Given the description of an element on the screen output the (x, y) to click on. 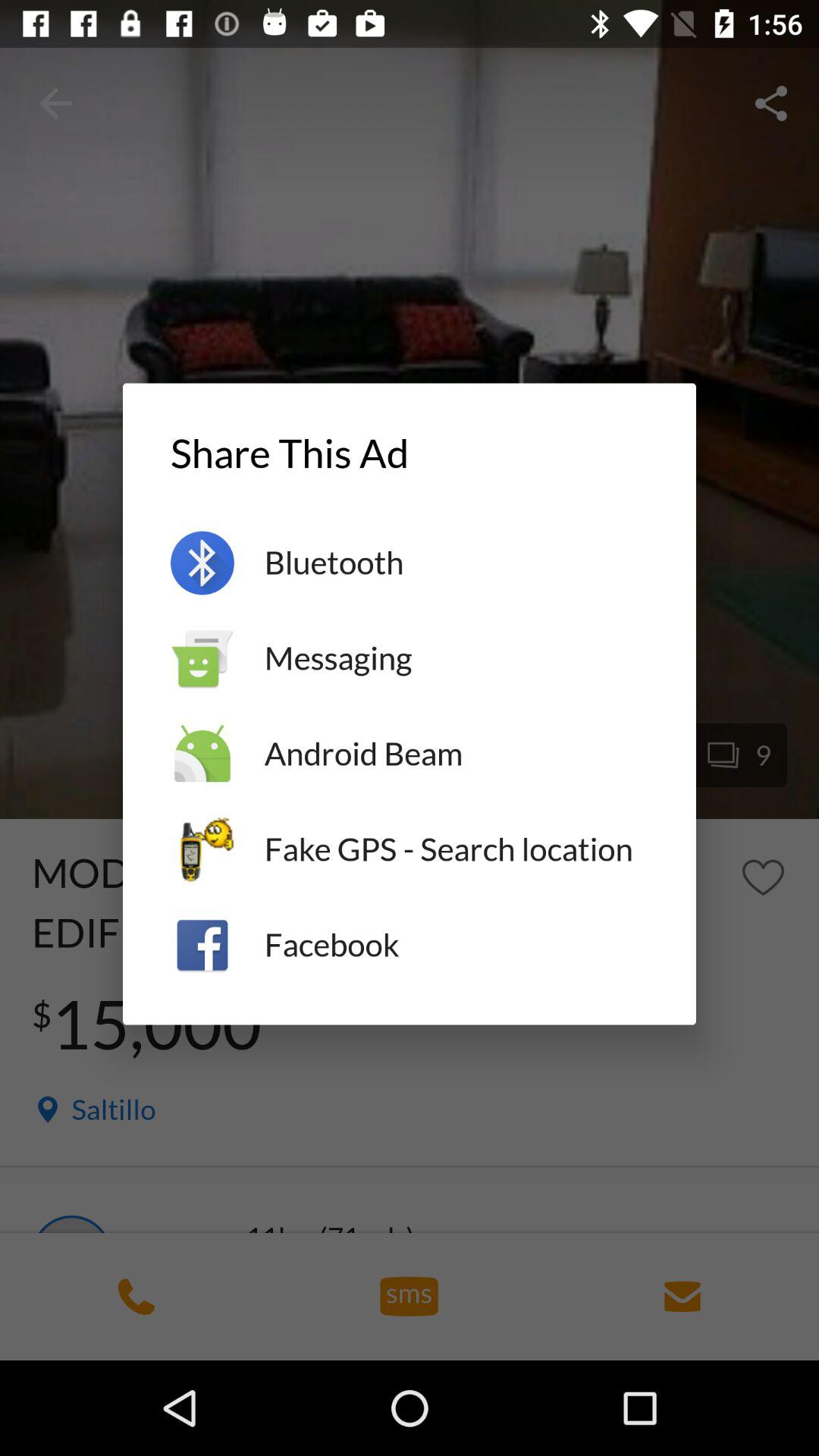
launch item below share this ad (456, 562)
